Given the description of an element on the screen output the (x, y) to click on. 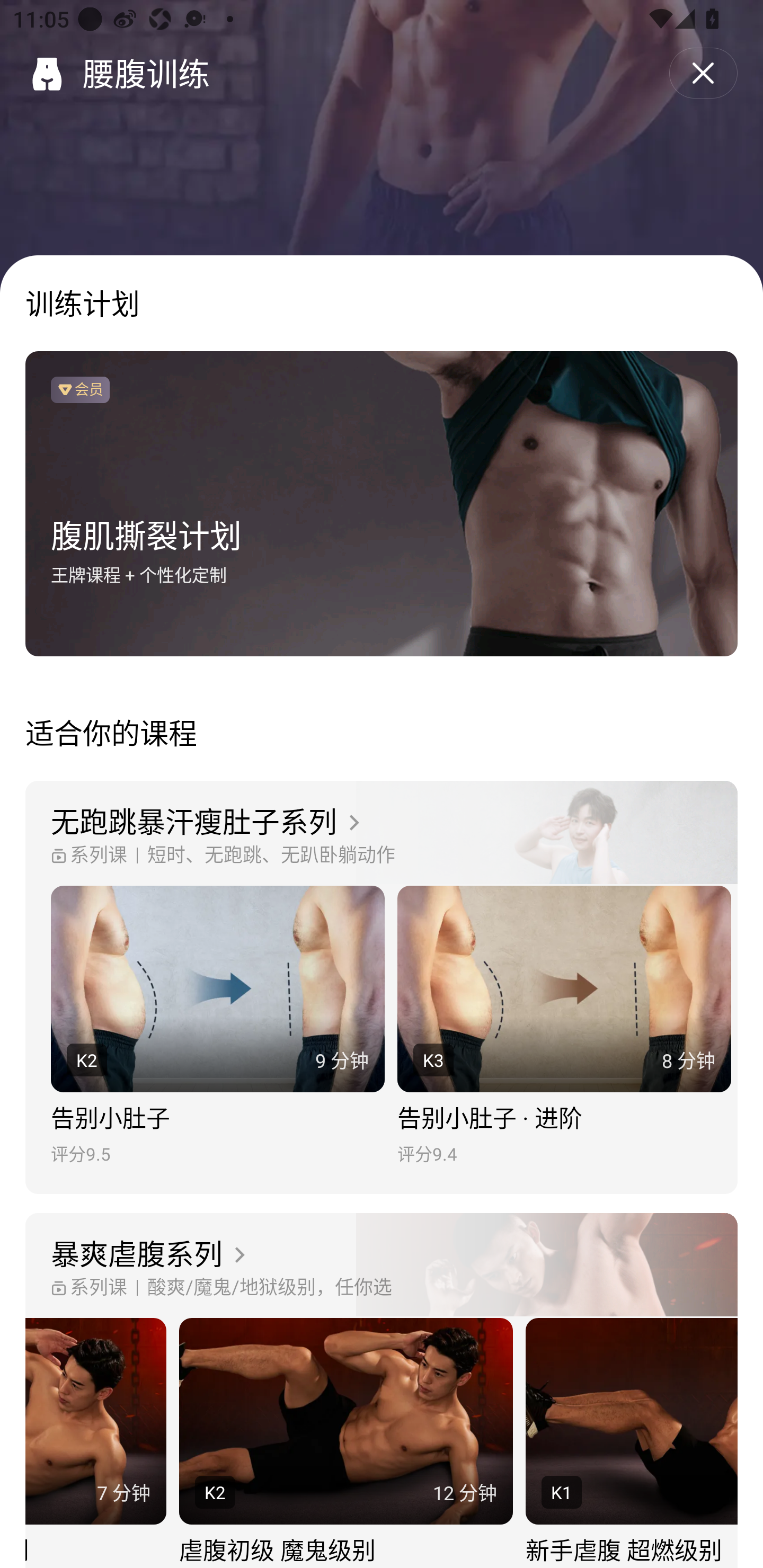
会员 腹肌撕裂计划 王牌课程 + 个性化定制 (381, 503)
无跑跳暴汗瘦肚子系列 系列课 短时、无跑跳、无趴卧躺动作 (381, 832)
K2 9 分钟 告别小肚子 评分9.5 (217, 1025)
K3 8 分钟 告别小肚子 · 进阶 评分9.4 (563, 1025)
暴爽虐腹系列 系列课 酸爽/魔鬼/地狱级别，任你选 (381, 1265)
K2 12 分钟 虐腹初级 魔鬼级别 (345, 1443)
K1 新手虐腹 超燃级别 (631, 1443)
